Given the description of an element on the screen output the (x, y) to click on. 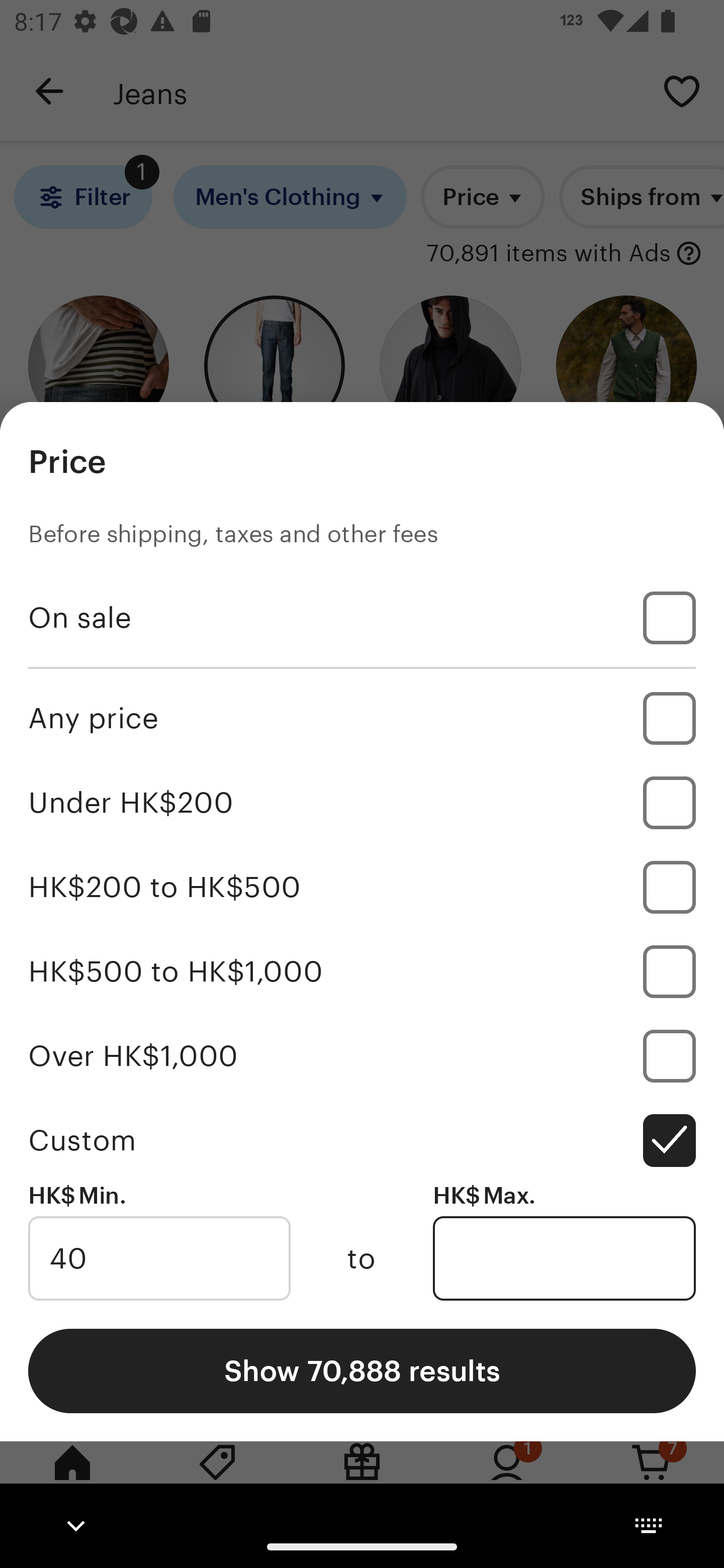
On sale (362, 617)
Any price (362, 717)
Under HK$200 (362, 802)
HK$200 to HK$500 (362, 887)
HK$500 to HK$1,000 (362, 970)
Over HK$1,000 (362, 1054)
Custom (362, 1139)
40 (159, 1257)
Show 70,888 results (361, 1370)
